Given the description of an element on the screen output the (x, y) to click on. 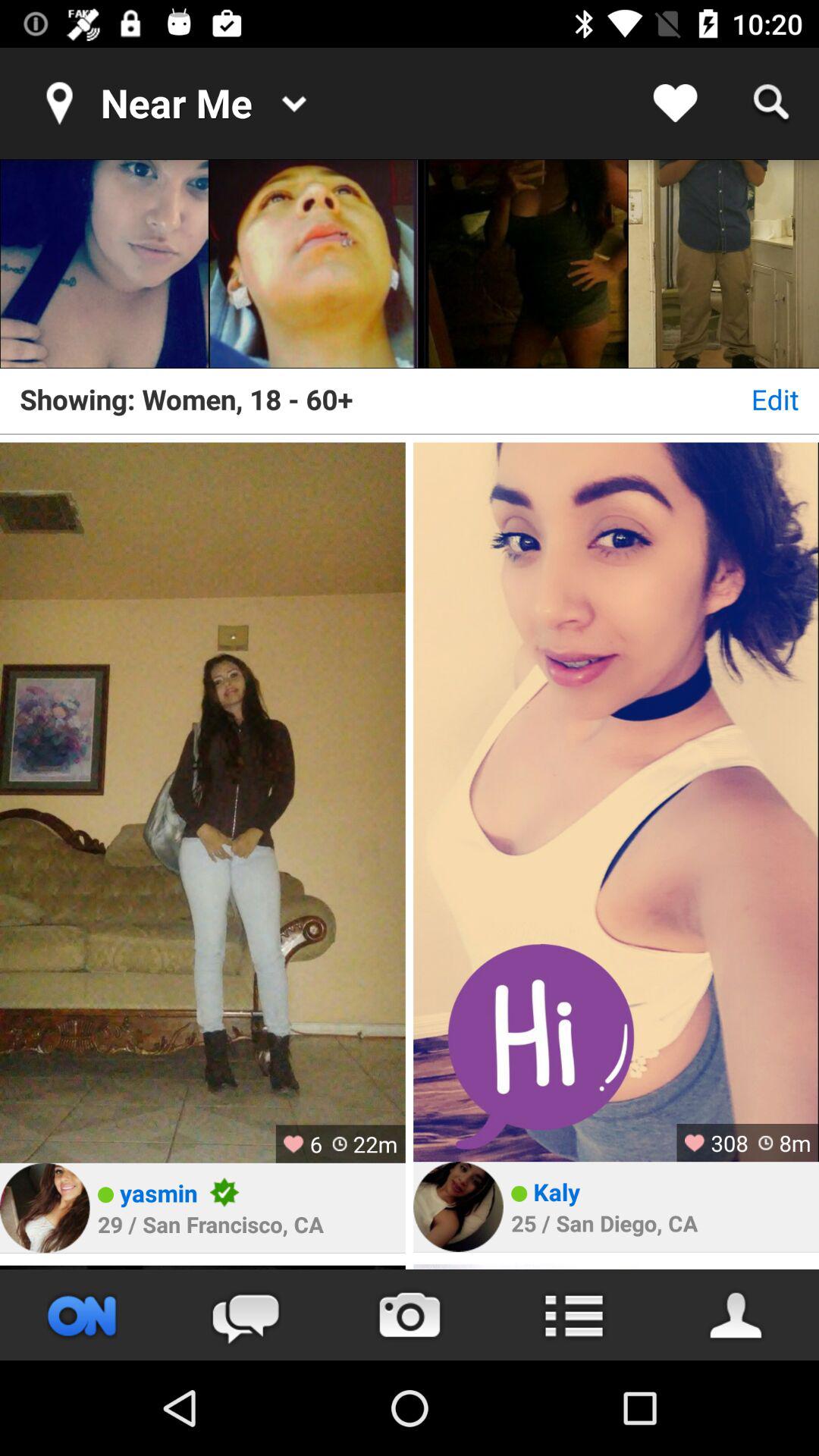
view profile (616, 1266)
